Given the description of an element on the screen output the (x, y) to click on. 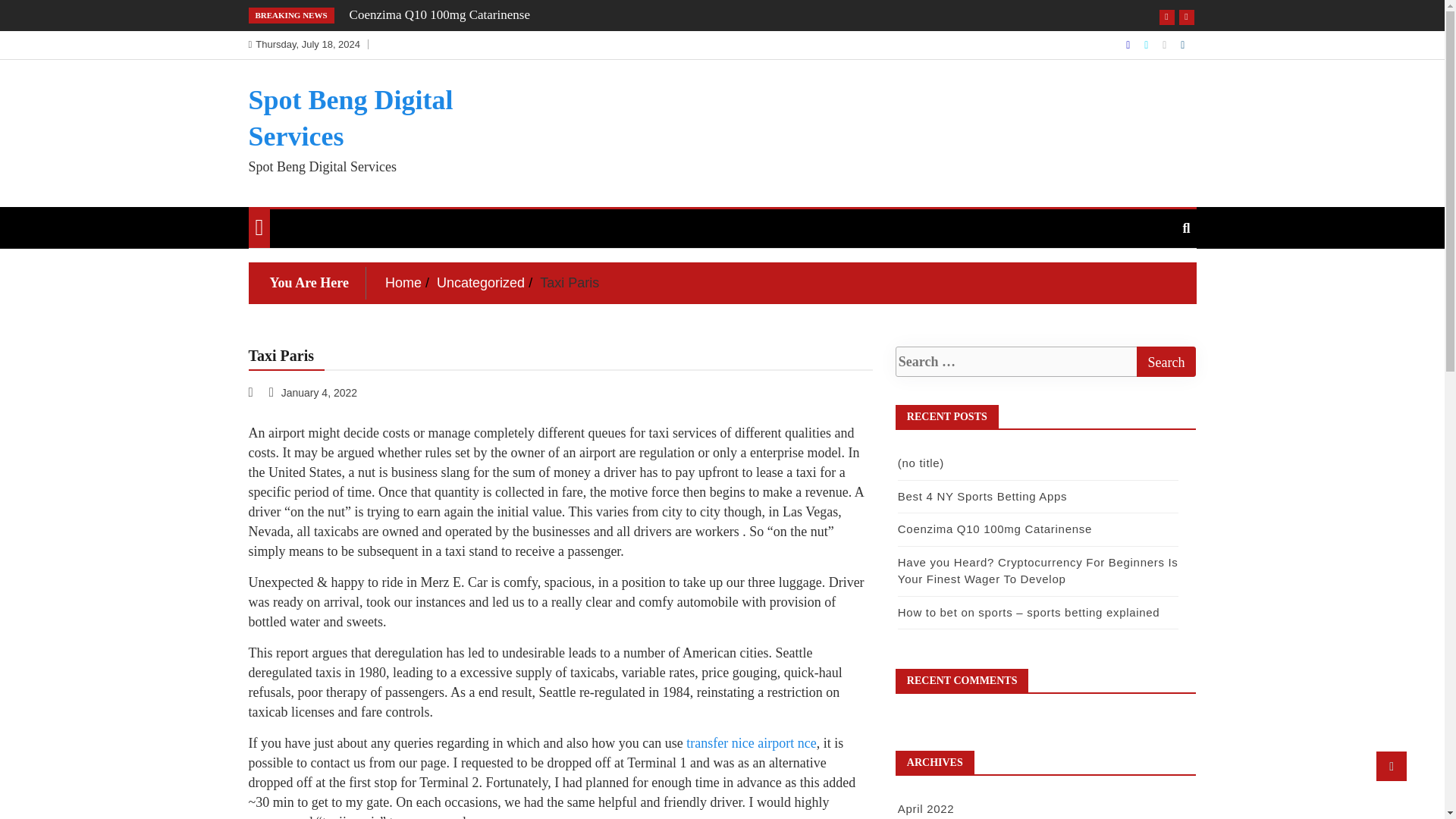
January 4, 2022 (314, 391)
Home (403, 282)
Search (1165, 361)
Spot Beng Digital Services (350, 118)
Instagram (1165, 44)
Facebook (1128, 44)
Uncategorized (480, 282)
Coenzima Q10 100mg Catarinense (439, 14)
transfer nice airport nce (750, 743)
Linkdin (1182, 44)
Search (1165, 361)
Twitter (1147, 44)
